Given the description of an element on the screen output the (x, y) to click on. 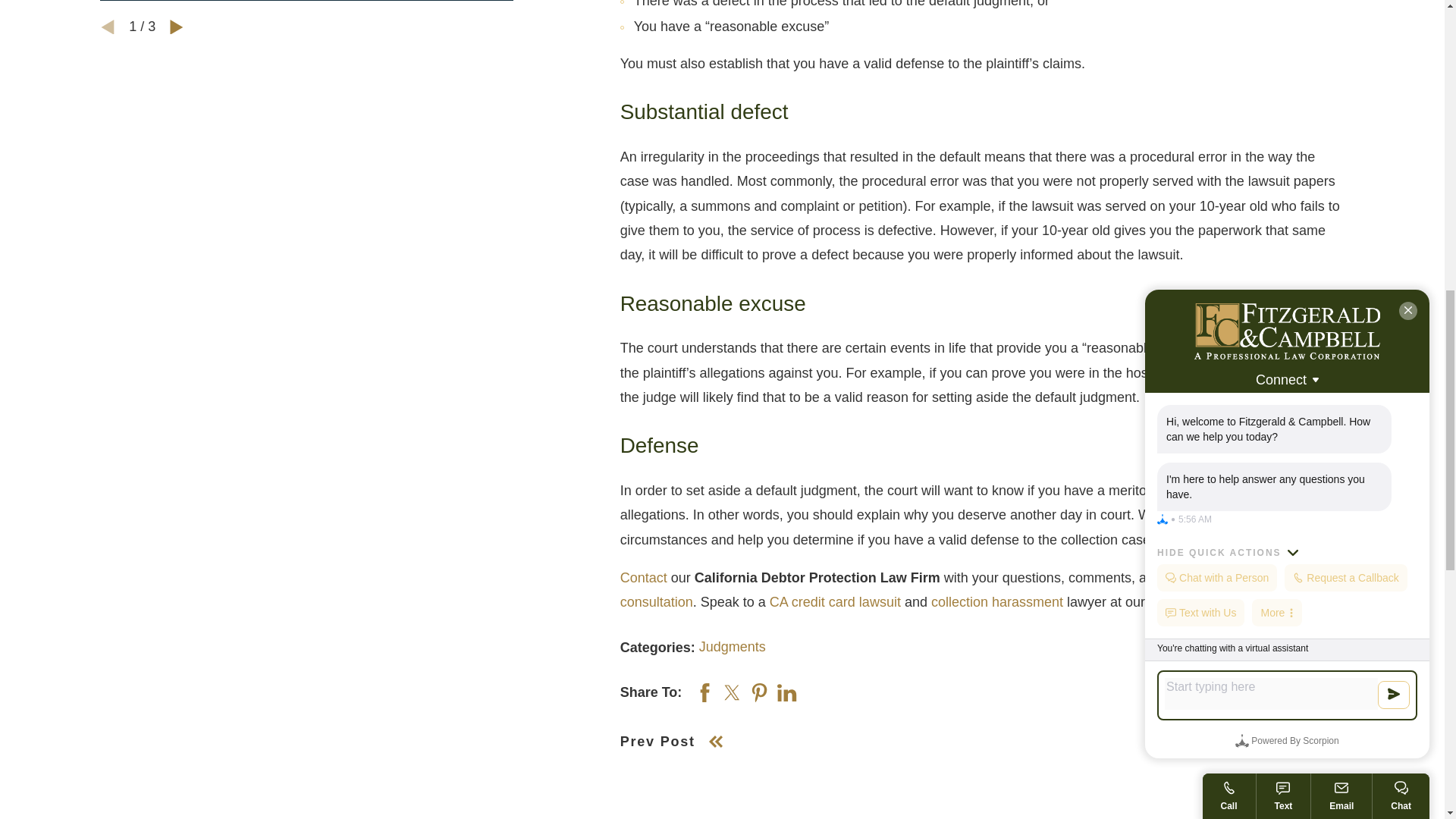
View previous item (107, 27)
View next item (176, 27)
